Given the description of an element on the screen output the (x, y) to click on. 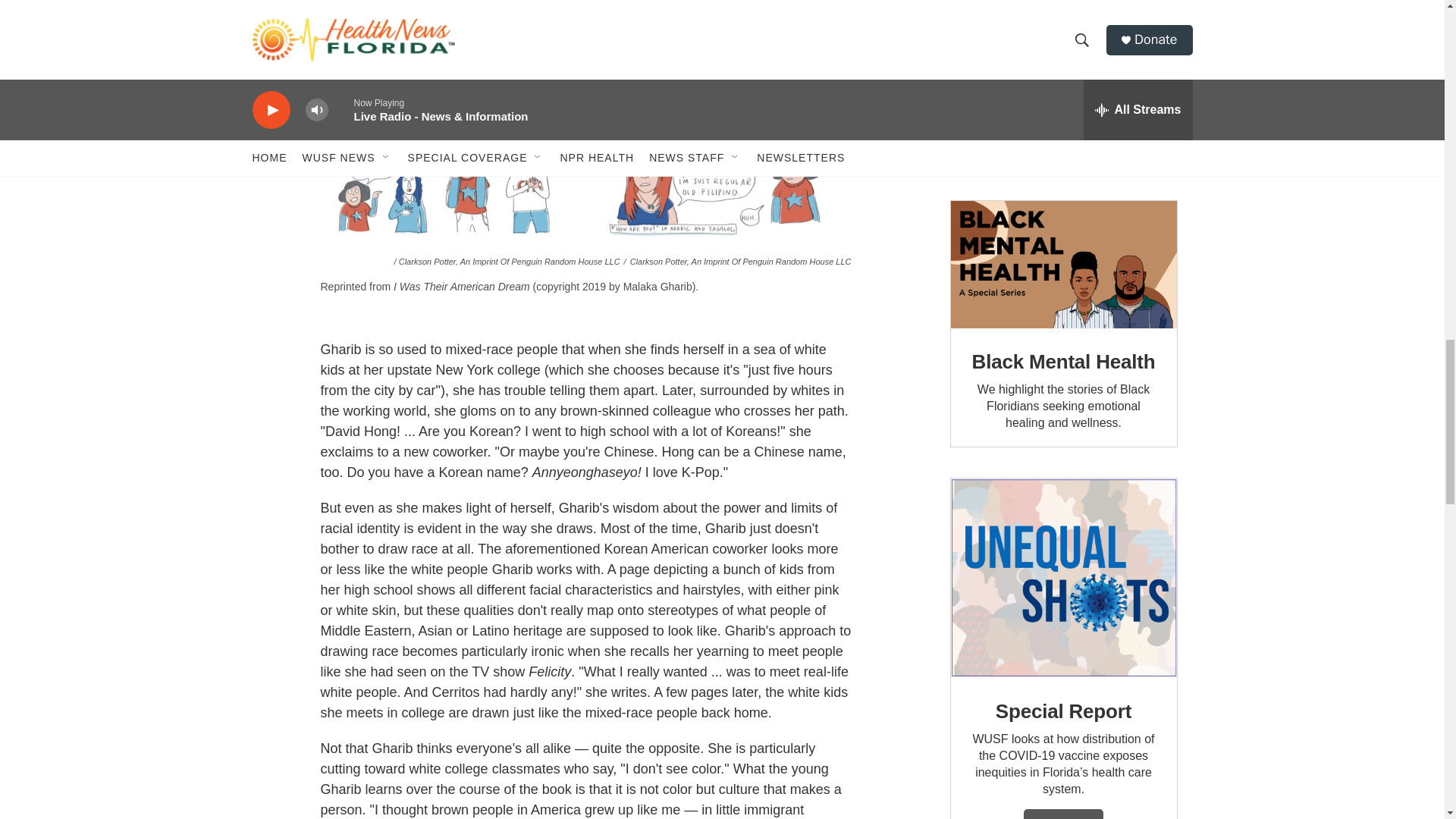
3rd party ad content (1062, 84)
